Given the description of an element on the screen output the (x, y) to click on. 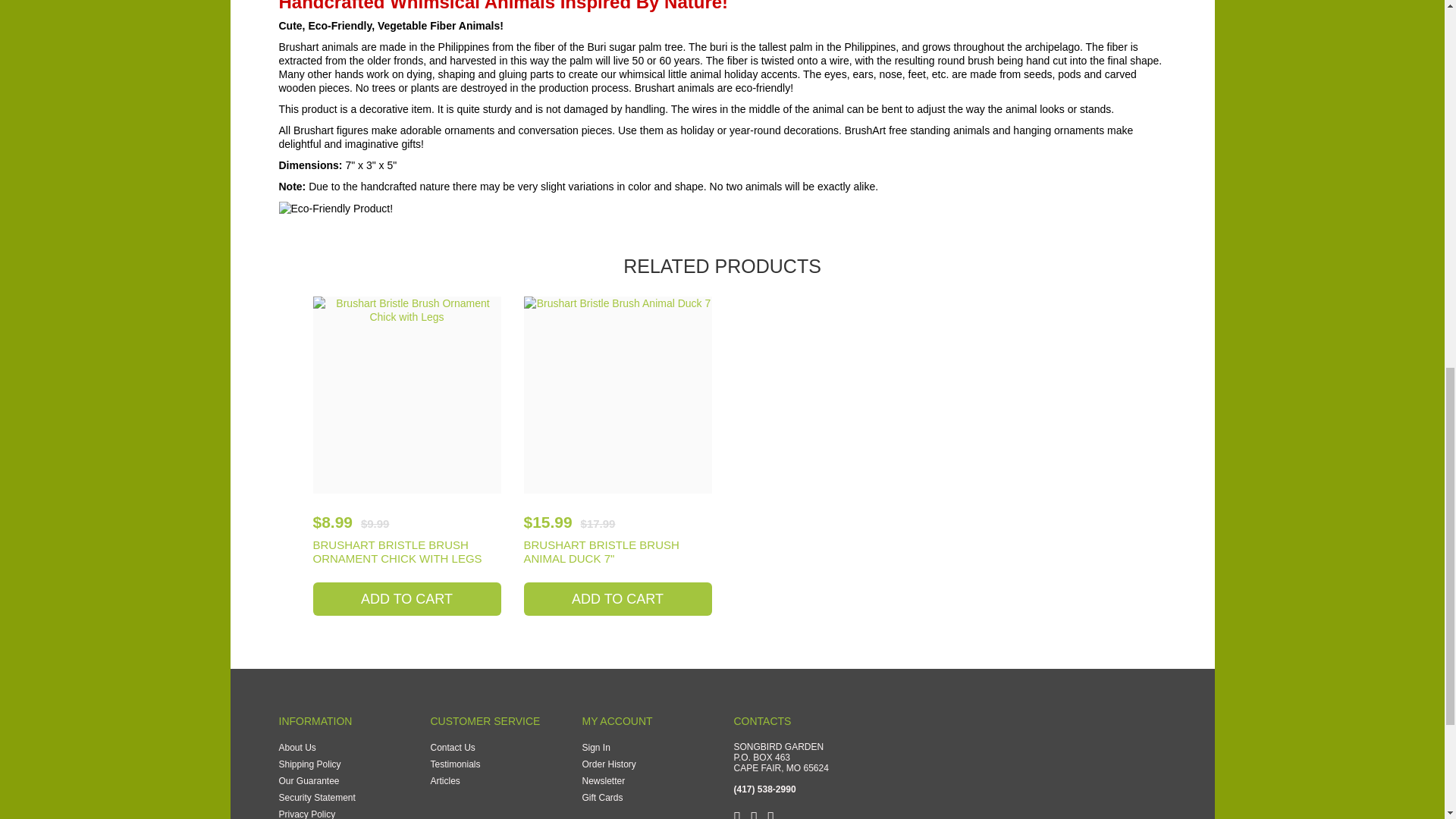
Brushart Bristle Brush Animal Duck 7 (616, 394)
Brushart Bristle Brush Ornament Chick with Legs (406, 394)
Add to cart (406, 598)
Add to cart (616, 598)
